Given the description of an element on the screen output the (x, y) to click on. 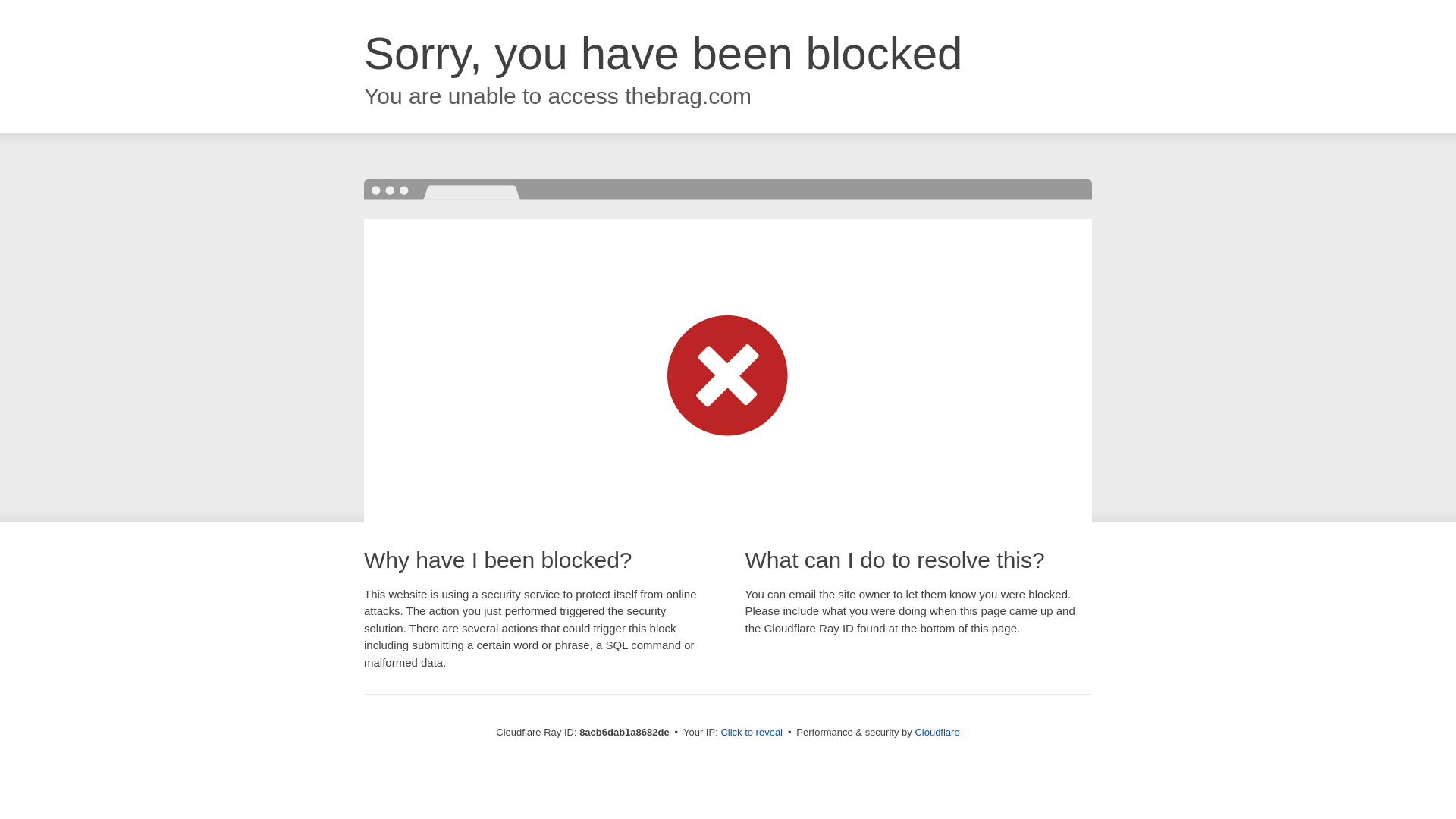
Cloudflare (936, 731)
Click to reveal (751, 732)
